Given the description of an element on the screen output the (x, y) to click on. 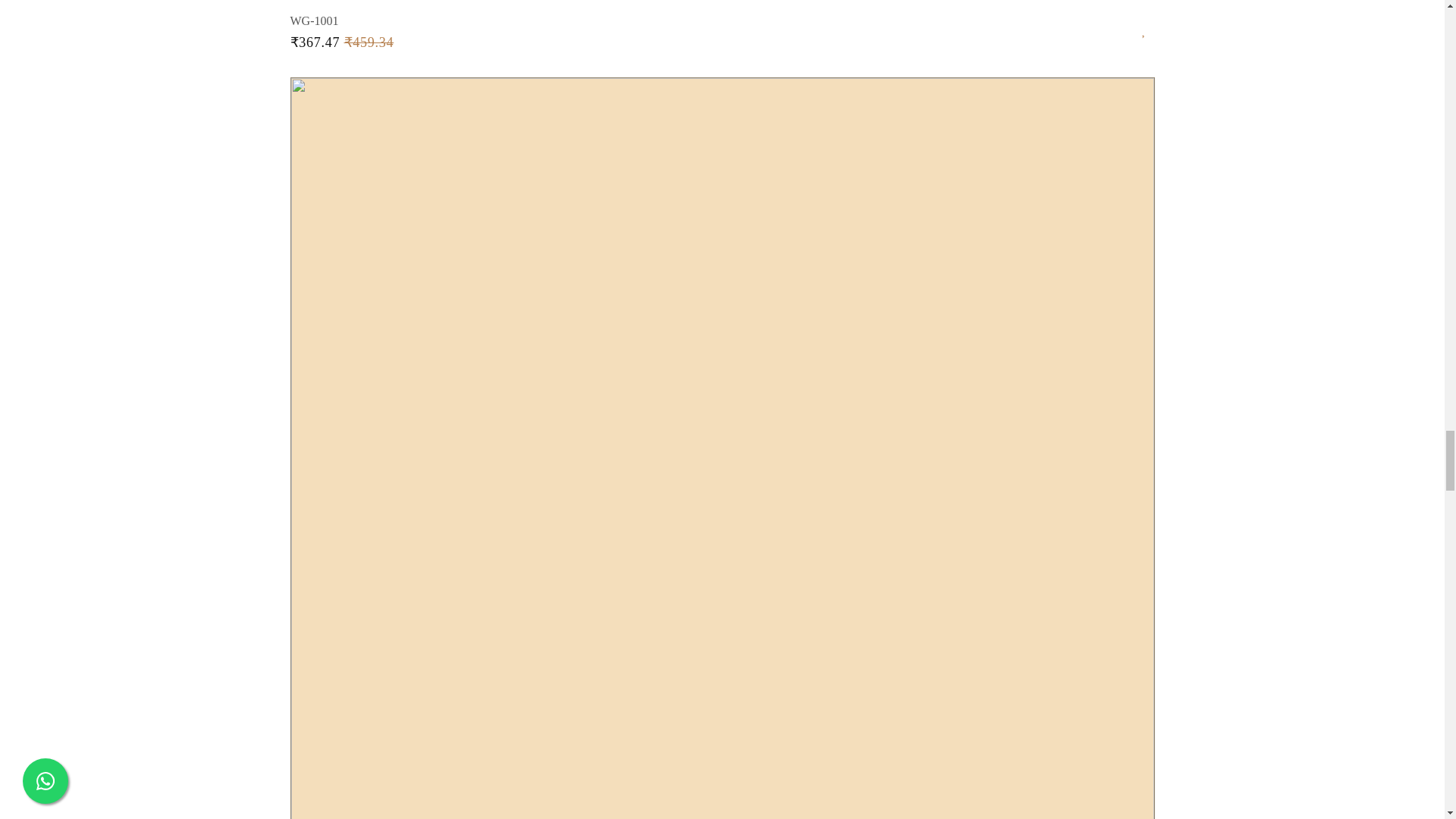
Add to Wishlist (1147, 25)
